Given the description of an element on the screen output the (x, y) to click on. 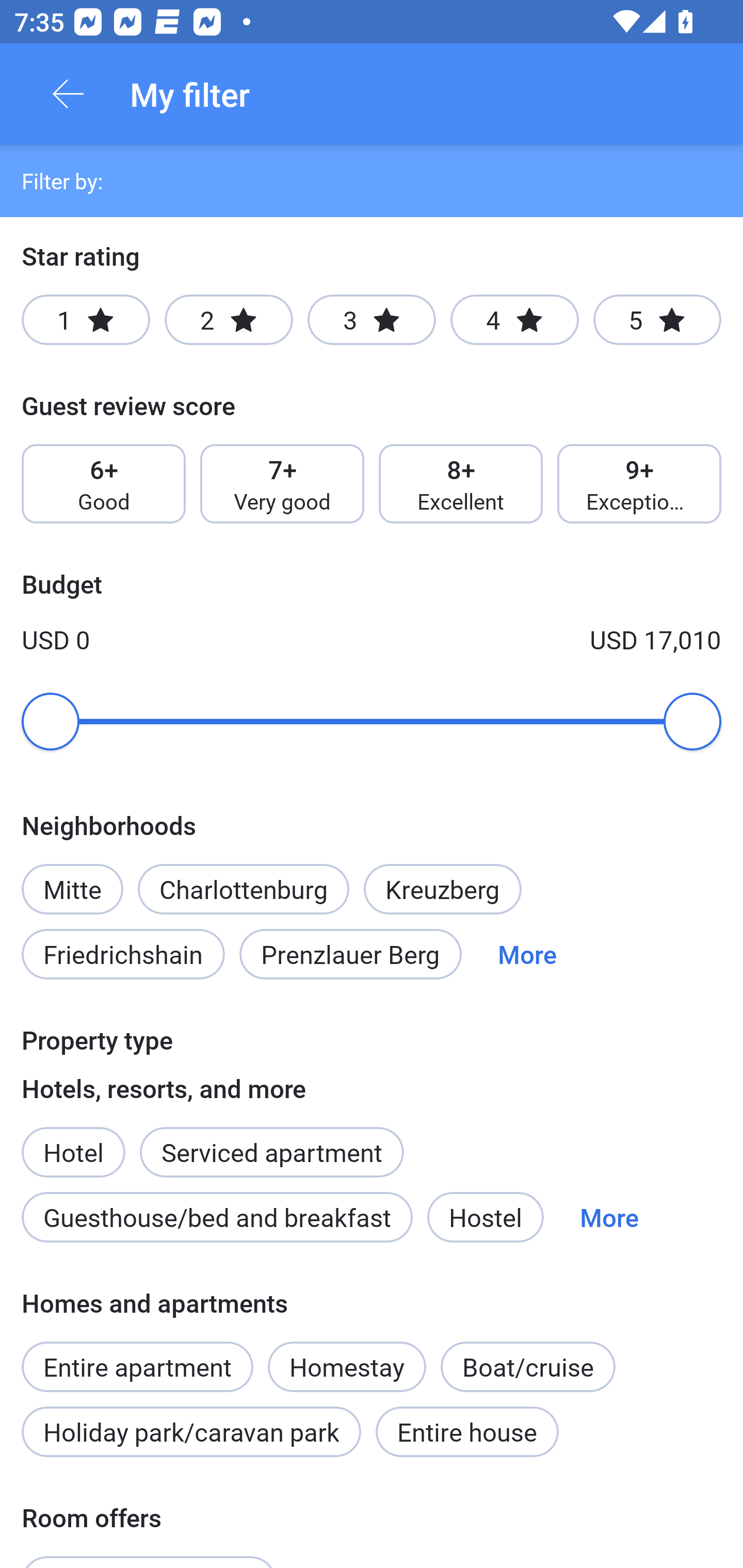
1 (85, 319)
2 (228, 319)
3 (371, 319)
4 (514, 319)
5 (657, 319)
6+ Good (103, 483)
7+ Very good (281, 483)
8+ Excellent (460, 483)
9+ Exceptional (639, 483)
Mitte (72, 878)
Charlottenburg (243, 888)
Kreuzberg (442, 888)
Friedrichshain (123, 954)
Prenzlauer Berg (350, 954)
More (527, 954)
Hotel (73, 1141)
Serviced apartment (271, 1141)
Guesthouse/bed and breakfast (217, 1217)
Hostel (485, 1217)
More (608, 1217)
Entire apartment (137, 1356)
Homestay (346, 1366)
Boat/cruise (527, 1366)
Holiday park/caravan park (191, 1432)
Entire house (466, 1432)
